Given the description of an element on the screen output the (x, y) to click on. 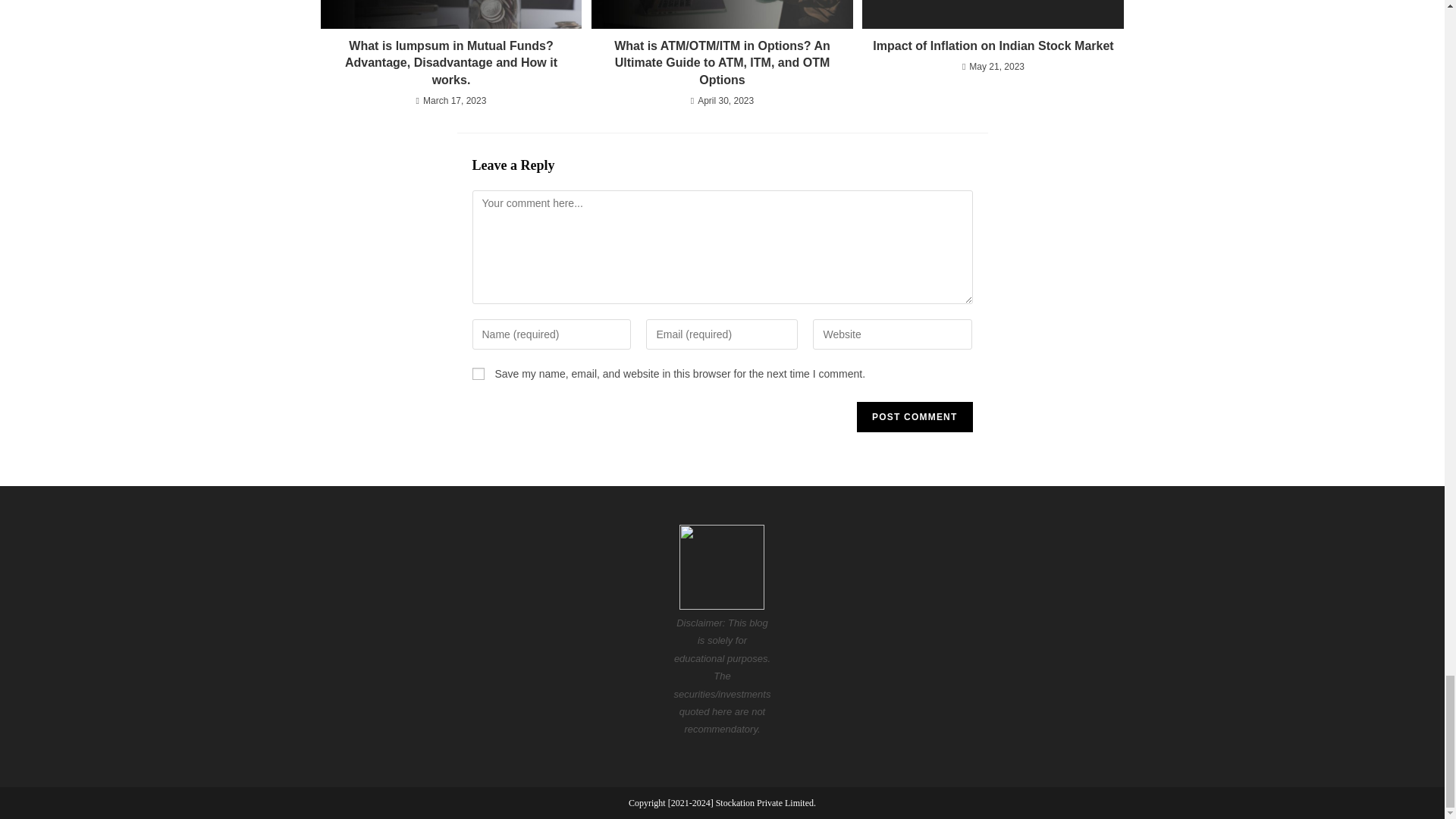
Impact of Inflation on Indian Stock Market (992, 45)
yes (477, 373)
Post Comment (914, 417)
Post Comment (914, 417)
